Given the description of an element on the screen output the (x, y) to click on. 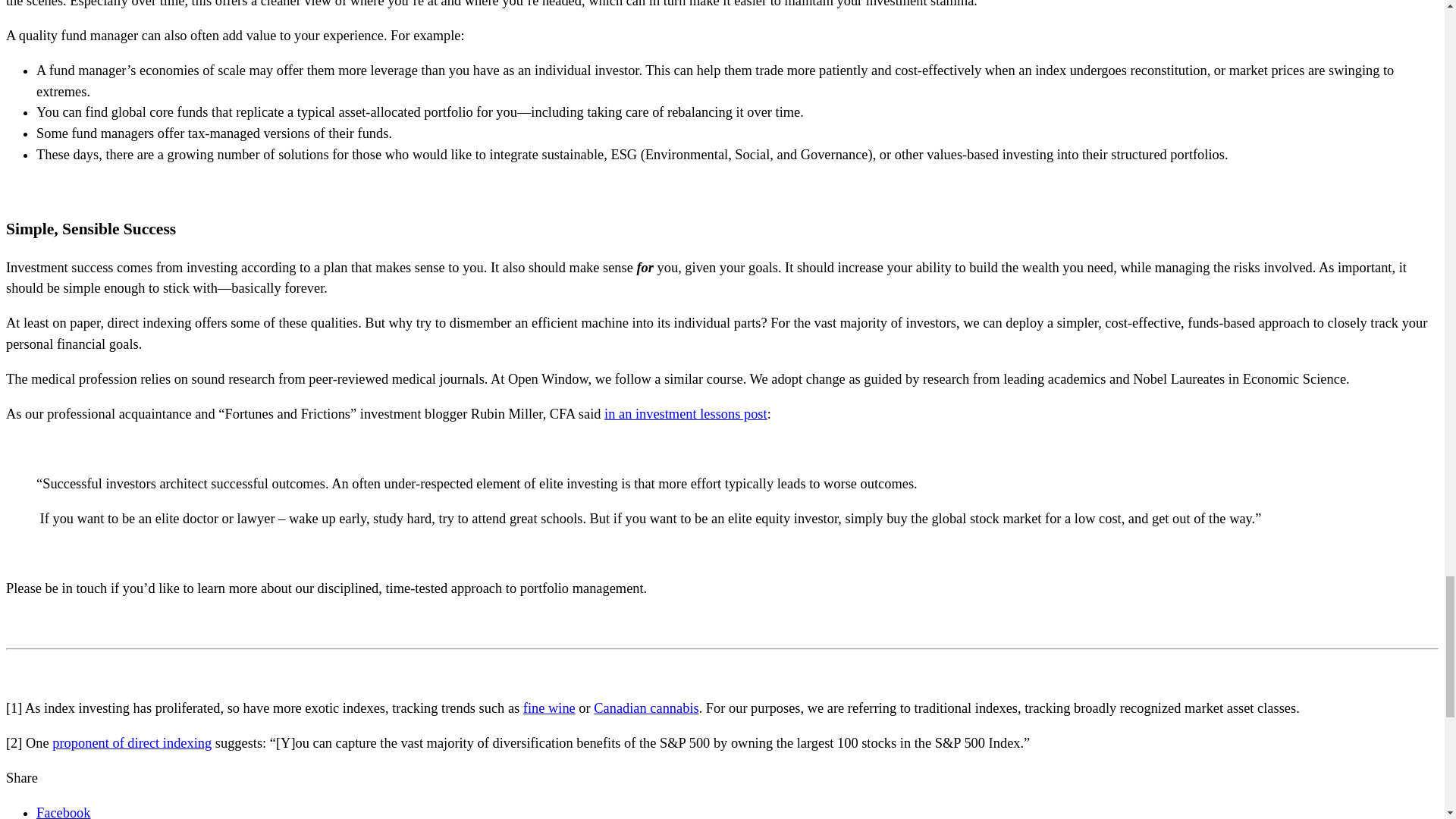
in an investment lessons post (685, 413)
Facebook (63, 812)
proponent of direct indexing (131, 743)
fine wine (548, 708)
Canadian cannabis (646, 708)
